Given the description of an element on the screen output the (x, y) to click on. 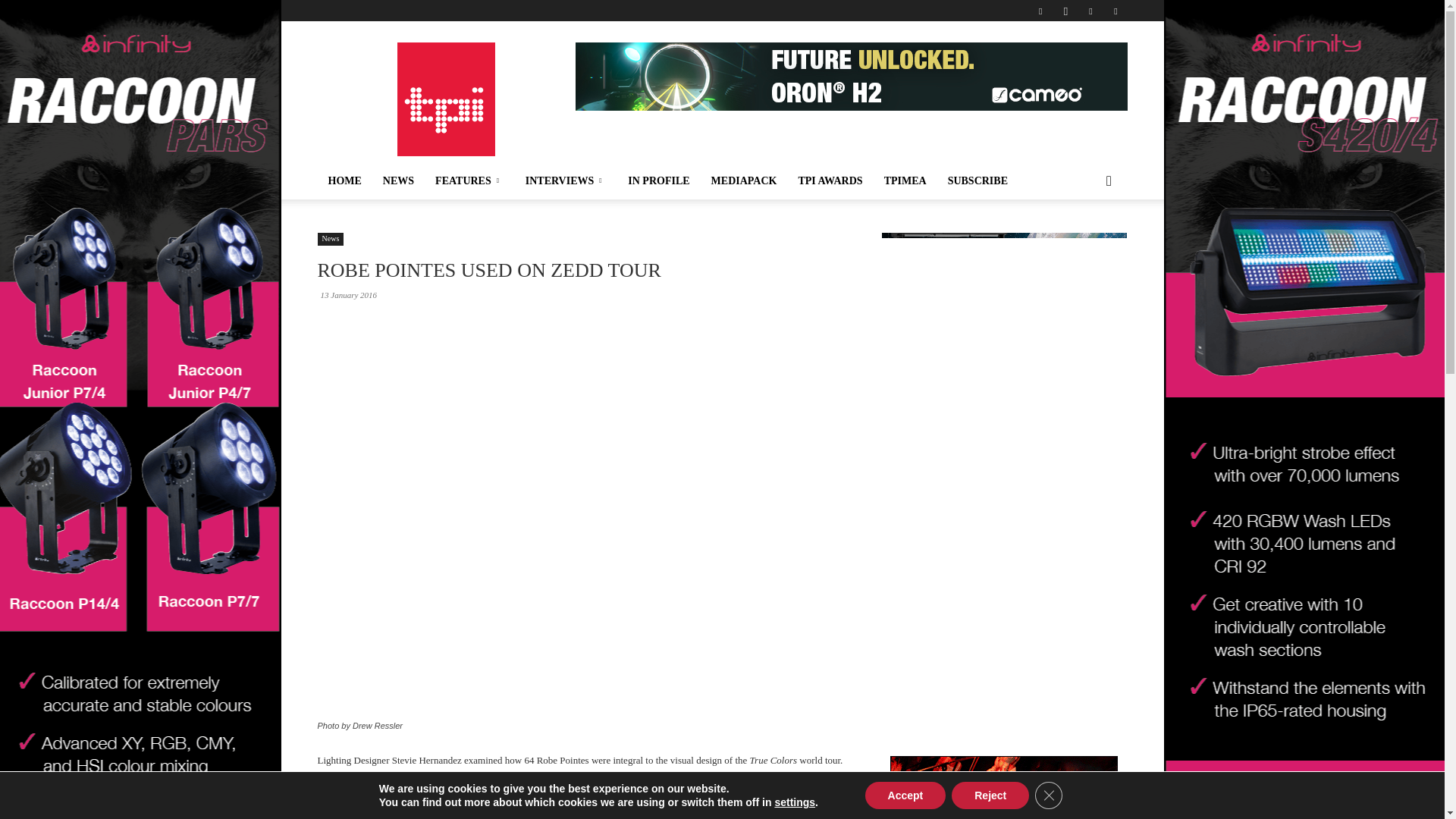
CAMEO ORON H2 (850, 76)
MEDIAPACK (743, 180)
HOME (344, 180)
INTERVIEWS (566, 180)
Twitter (1090, 10)
Youtube (1114, 10)
NEWS (398, 180)
Facebook (1040, 10)
IN PROFILE (658, 180)
FEATURES (470, 180)
